Given the description of an element on the screen output the (x, y) to click on. 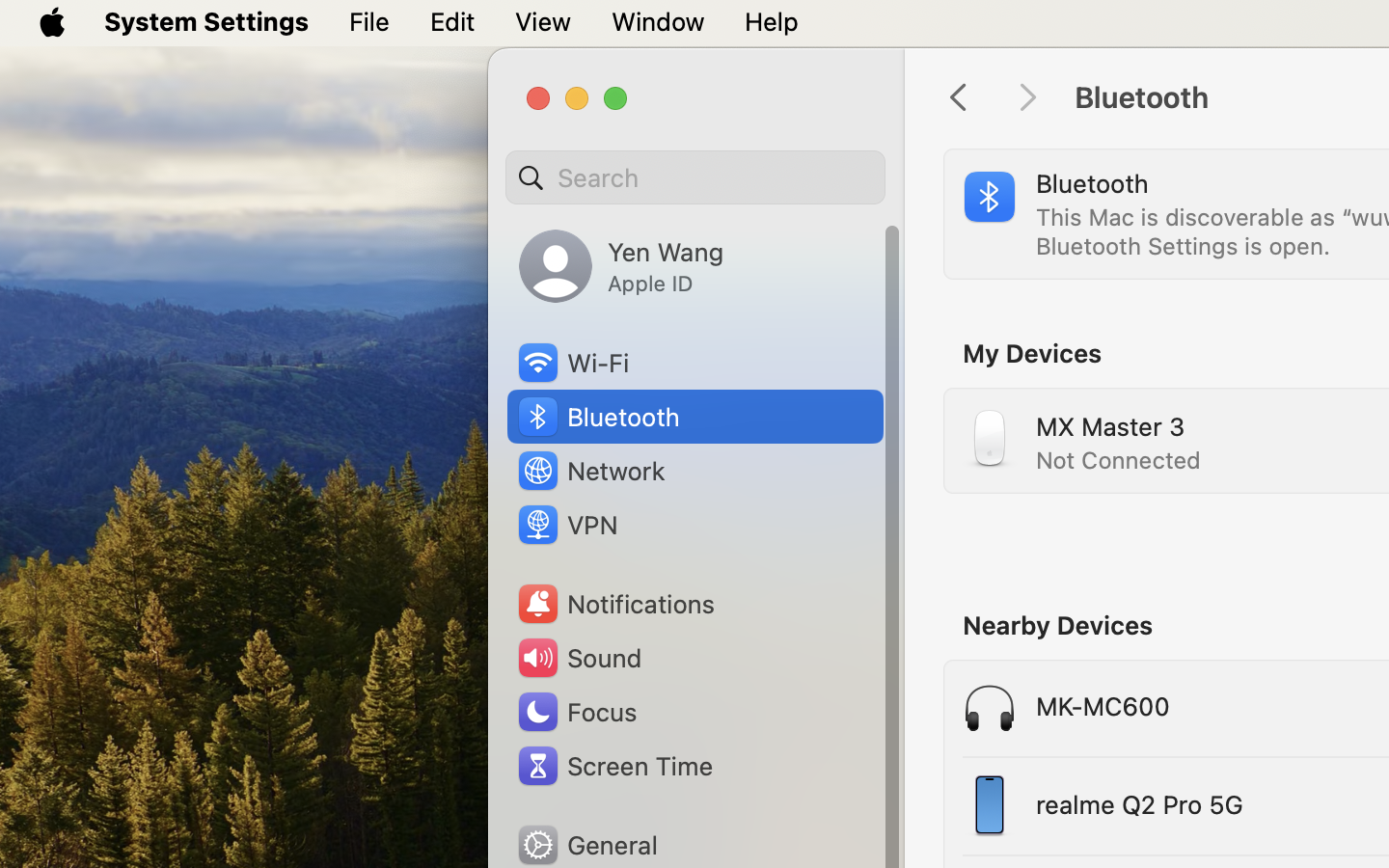
Wi‑Fi Element type: AXStaticText (571, 362)
Yen Wang, Apple ID Element type: AXStaticText (620, 265)
